Given the description of an element on the screen output the (x, y) to click on. 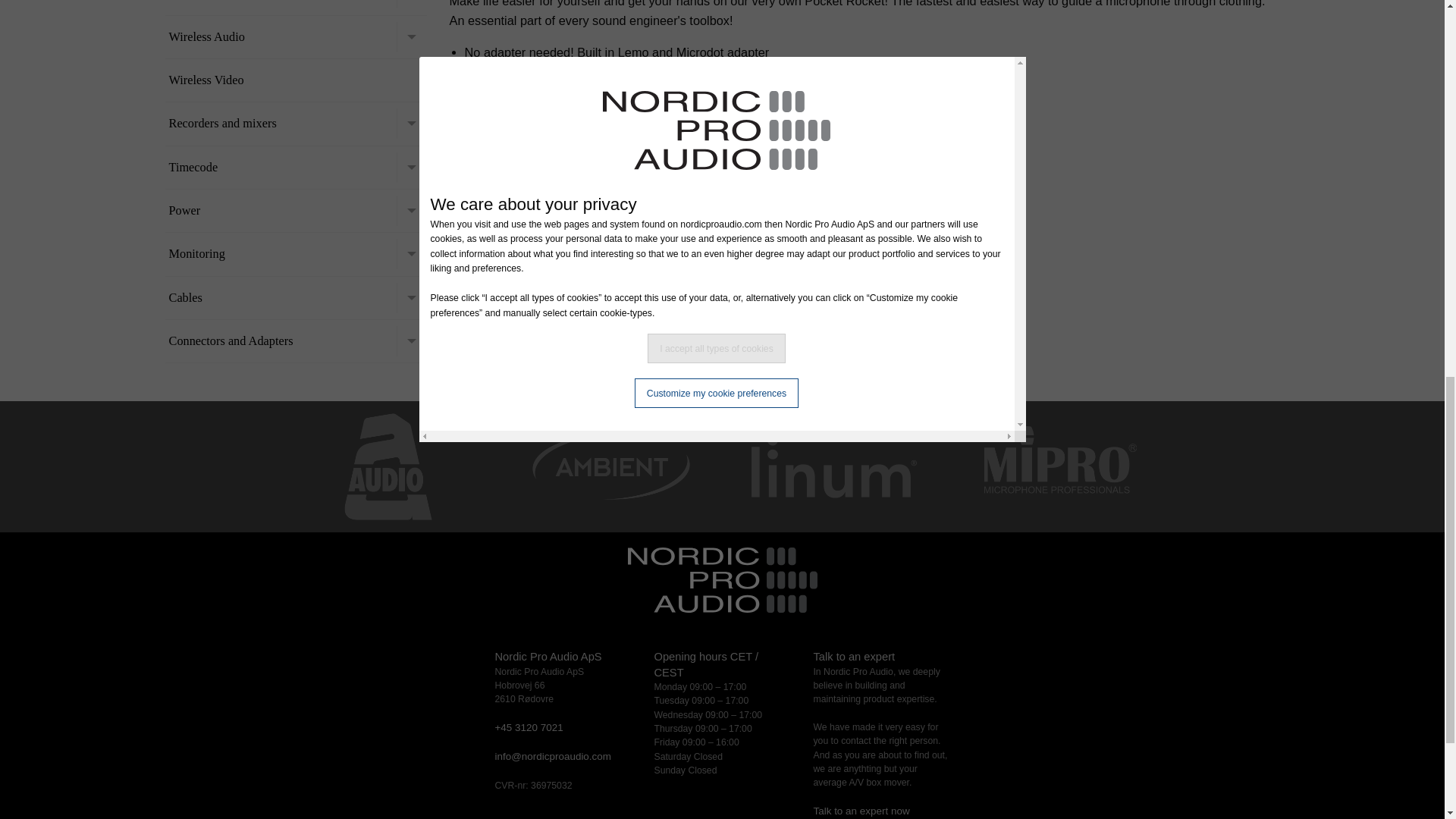
Toggle menu (411, 340)
Toggle menu (411, 297)
Toggle menu (411, 167)
Toggle menu (411, 123)
Toggle menu (411, 4)
Toggle menu (411, 254)
Toggle menu (411, 37)
Toggle menu (411, 210)
